Given the description of an element on the screen output the (x, y) to click on. 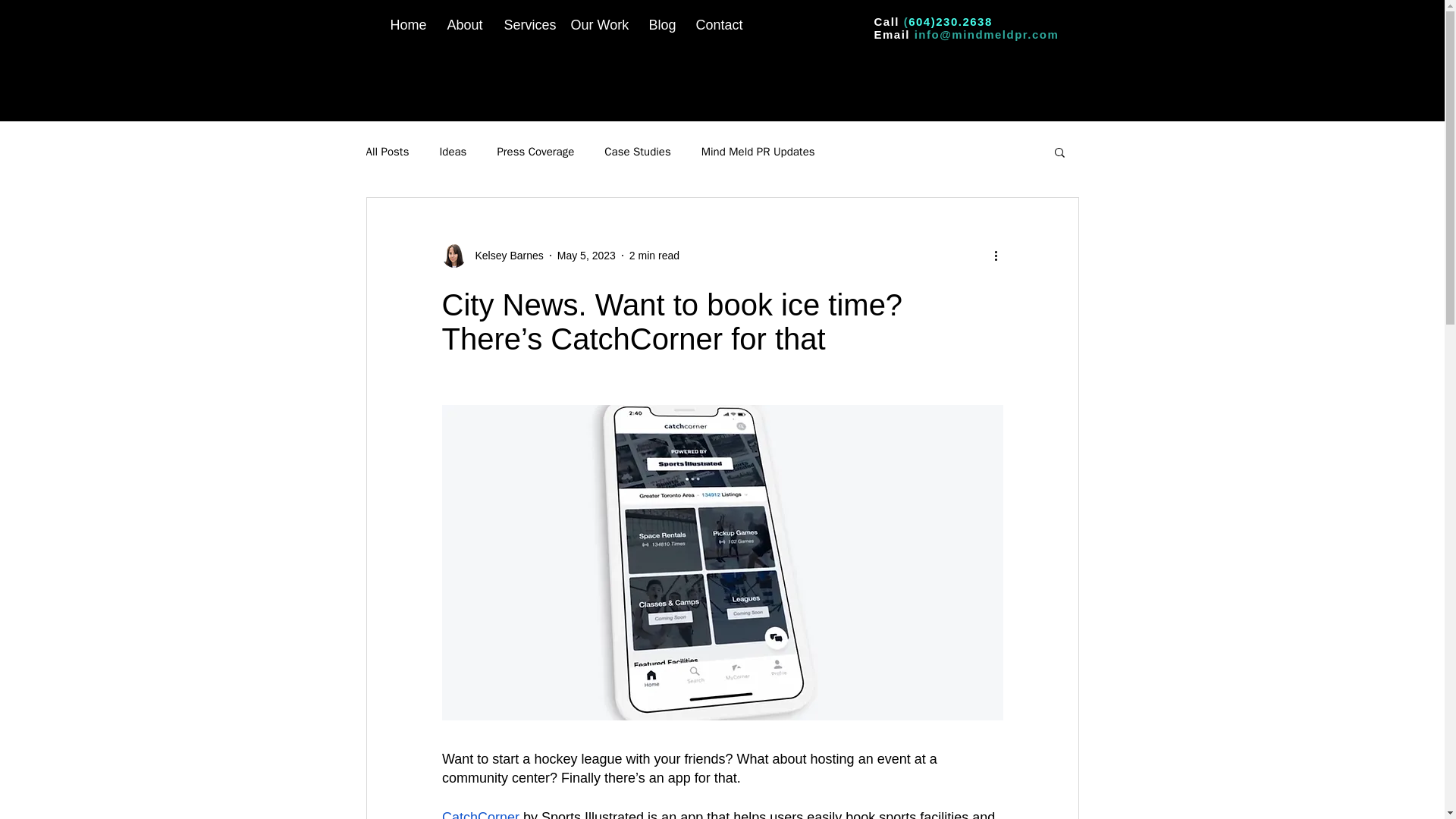
CatchCorner (479, 814)
May 5, 2023 (586, 254)
Contact (717, 25)
Ideas (452, 151)
Blog (660, 25)
Mind Meld PR Updates (758, 151)
2 min read (653, 254)
Kelsey Barnes (504, 254)
Our Work (598, 25)
Case Studies (636, 151)
